Given the description of an element on the screen output the (x, y) to click on. 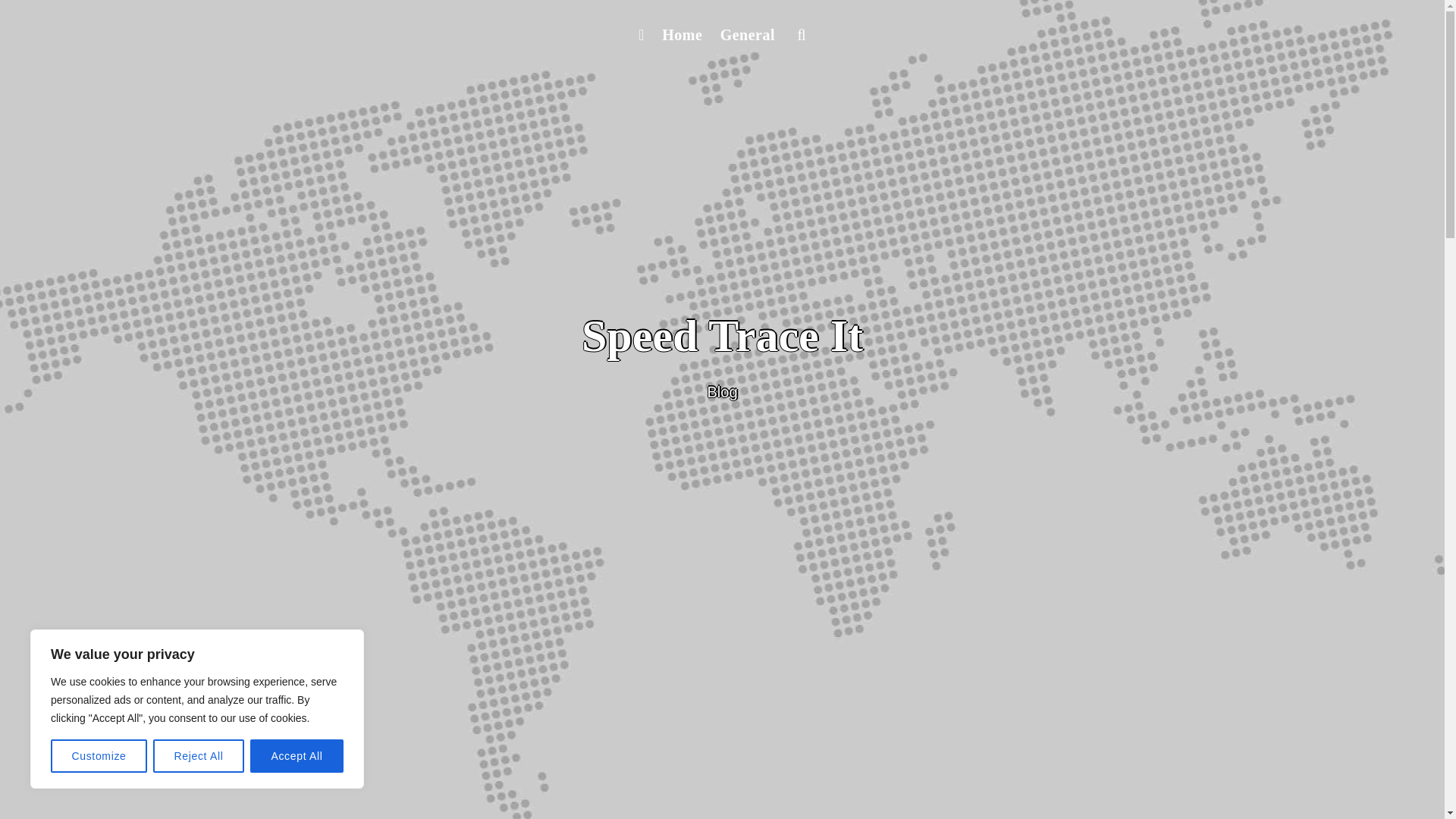
Reject All (198, 756)
Customize (98, 756)
Accept All (296, 756)
Home (681, 35)
Speed Trace It (721, 336)
General (747, 35)
